Given the description of an element on the screen output the (x, y) to click on. 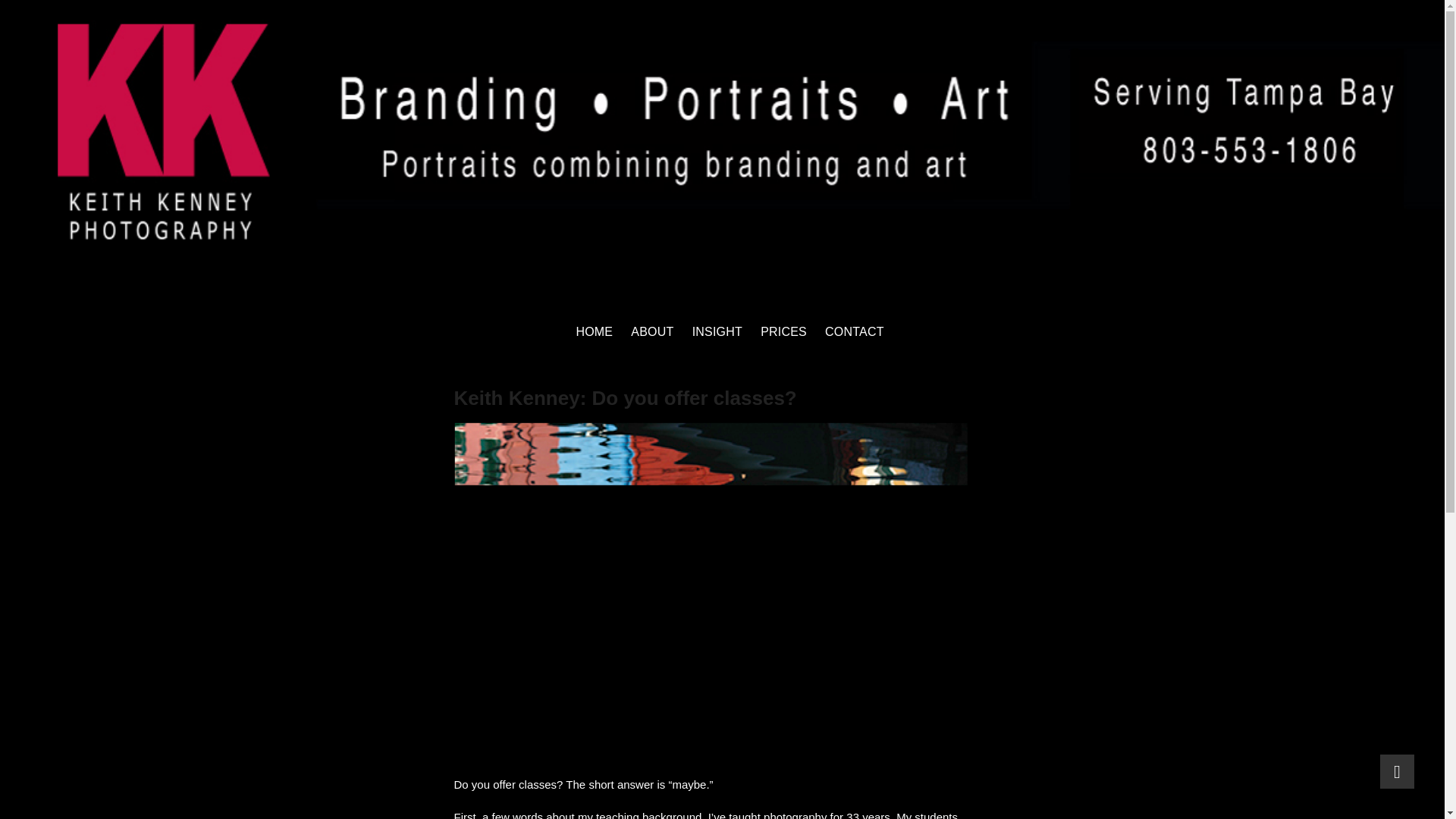
PRICES (782, 331)
HOME (593, 331)
Keith Kenney Photography (207, 277)
Keith Kenney Photography (207, 277)
CONTACT (853, 331)
ABOUT (652, 331)
INSIGHT (716, 331)
